Given the description of an element on the screen output the (x, y) to click on. 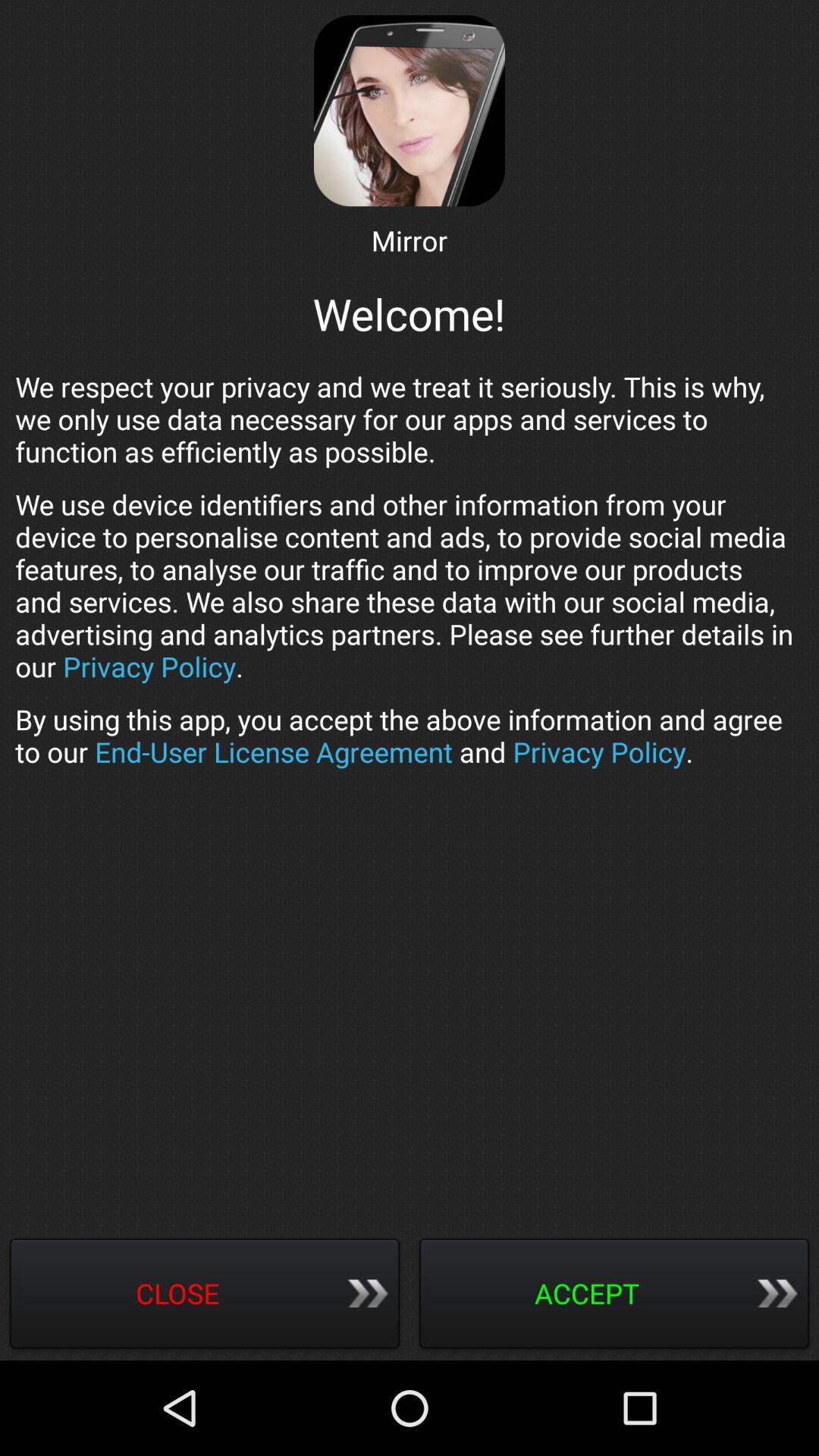
turn off button to the left of the accept icon (204, 1295)
